Given the description of an element on the screen output the (x, y) to click on. 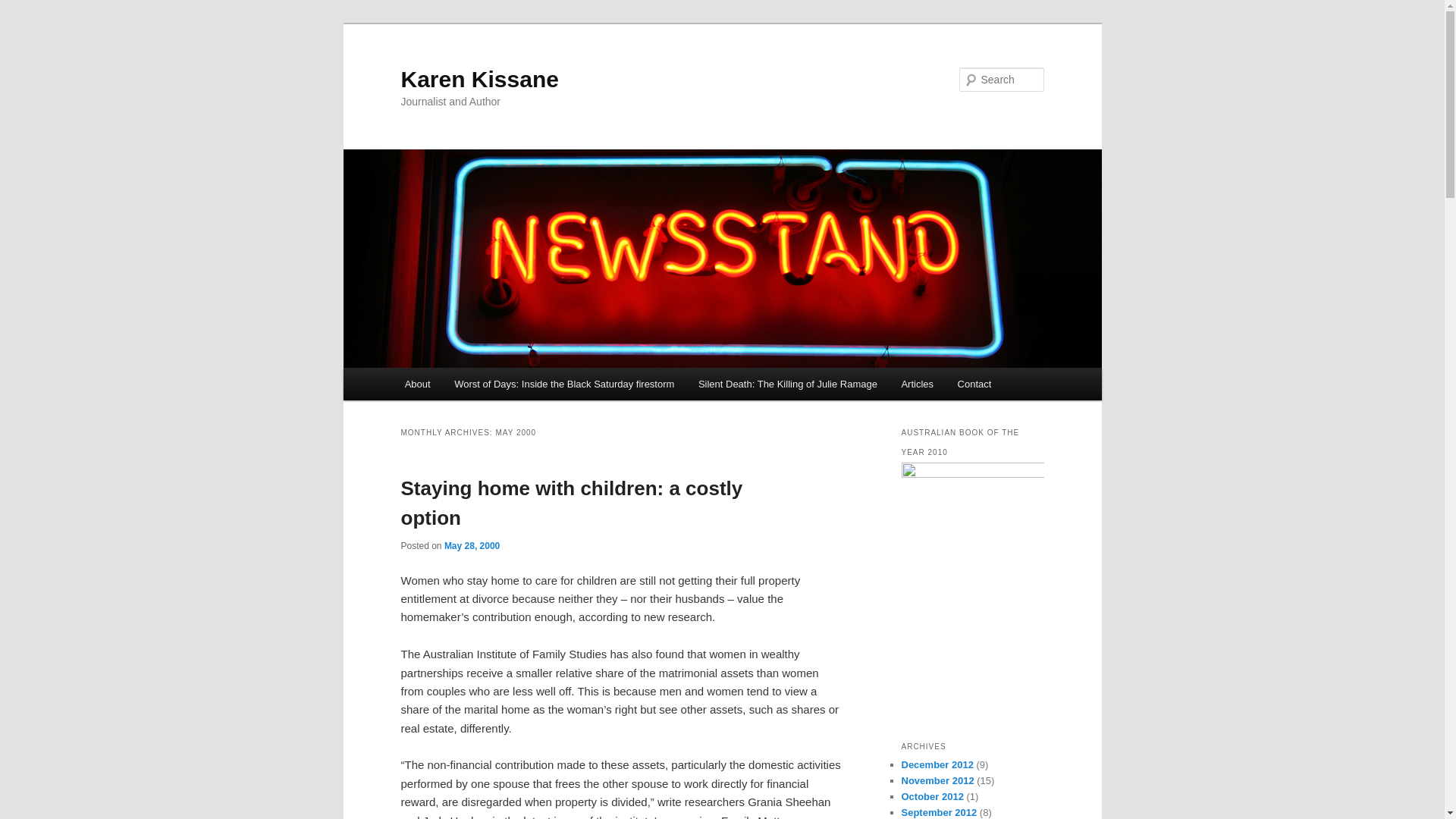
October 2012 (931, 796)
Search (24, 8)
Contact (973, 383)
September 2012 (938, 812)
Karen Kissane (478, 78)
December 2012 (936, 764)
May 28, 2000 (471, 545)
Staying home with children: a costly option (571, 502)
November 2012 (937, 780)
About (417, 383)
Articles (916, 383)
Worst of Days: Inside the Black Saturday firestorm (563, 383)
Silent Death: The Killing of Julie Ramage (787, 383)
4:55 am (471, 545)
